Given the description of an element on the screen output the (x, y) to click on. 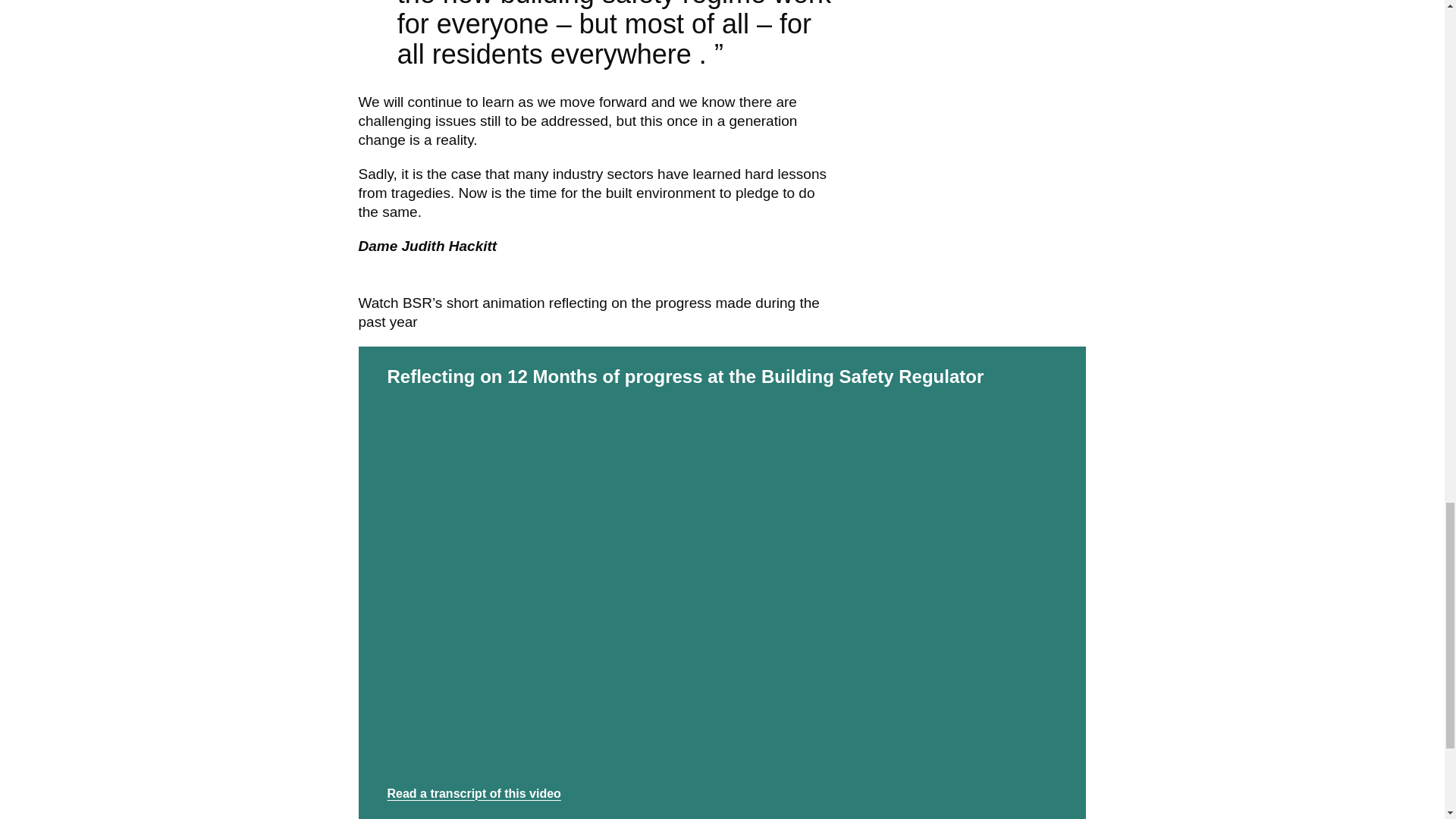
Read a transcript of this video (473, 793)
